Given the description of an element on the screen output the (x, y) to click on. 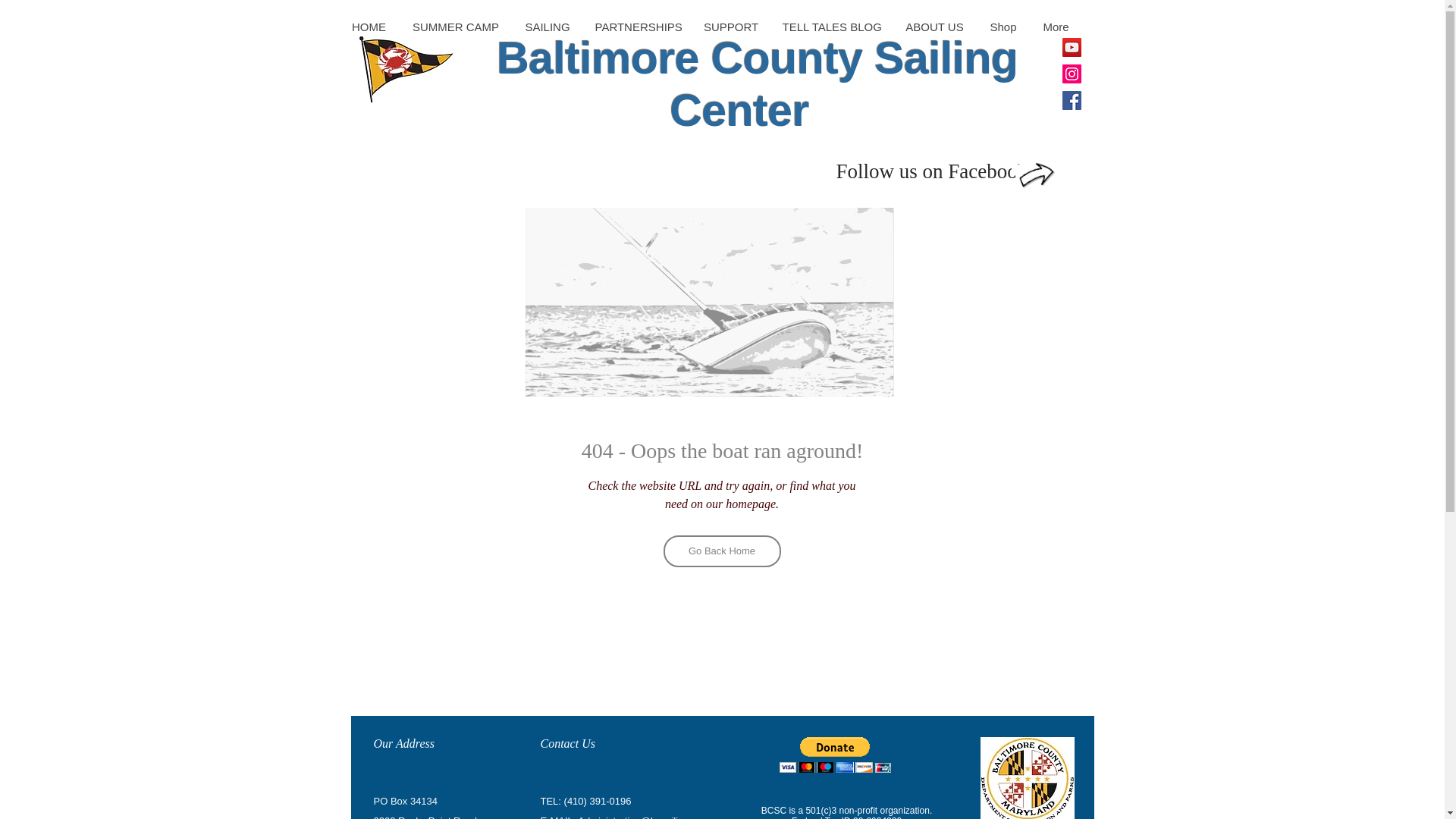
TELL TALES BLOG (831, 26)
SAILING (546, 26)
PARTNERSHIPS (636, 26)
Shop (1002, 26)
SUMMER CAMP (454, 26)
Go Back Home (721, 551)
HOME (367, 26)
ABOUT US (933, 26)
SUPPORT (730, 26)
